Given the description of an element on the screen output the (x, y) to click on. 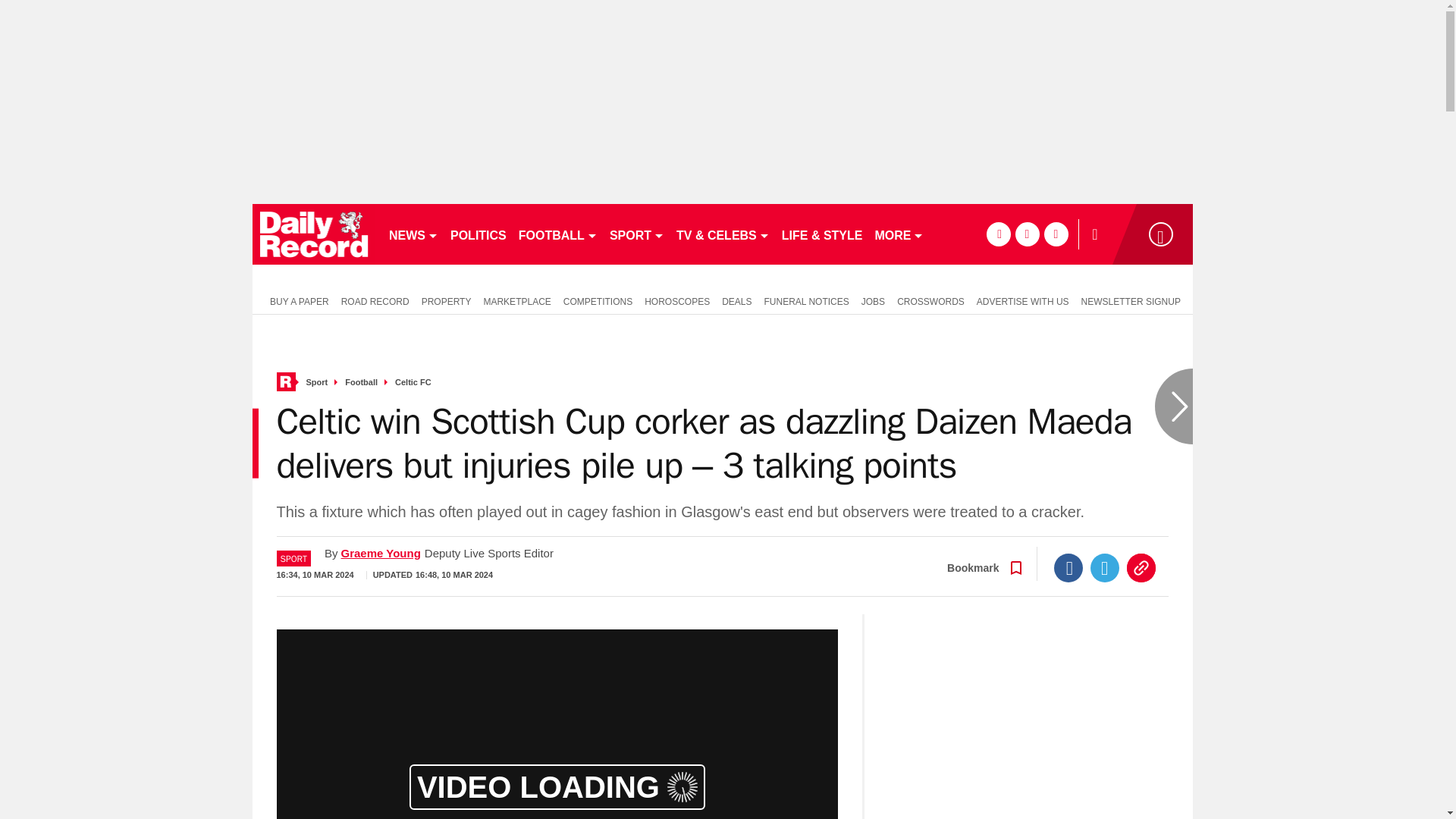
NEWS (413, 233)
facebook (997, 233)
SPORT (636, 233)
instagram (1055, 233)
dailyrecord (313, 233)
FOOTBALL (558, 233)
Twitter (1104, 567)
twitter (1026, 233)
POLITICS (478, 233)
Facebook (1068, 567)
